Given the description of an element on the screen output the (x, y) to click on. 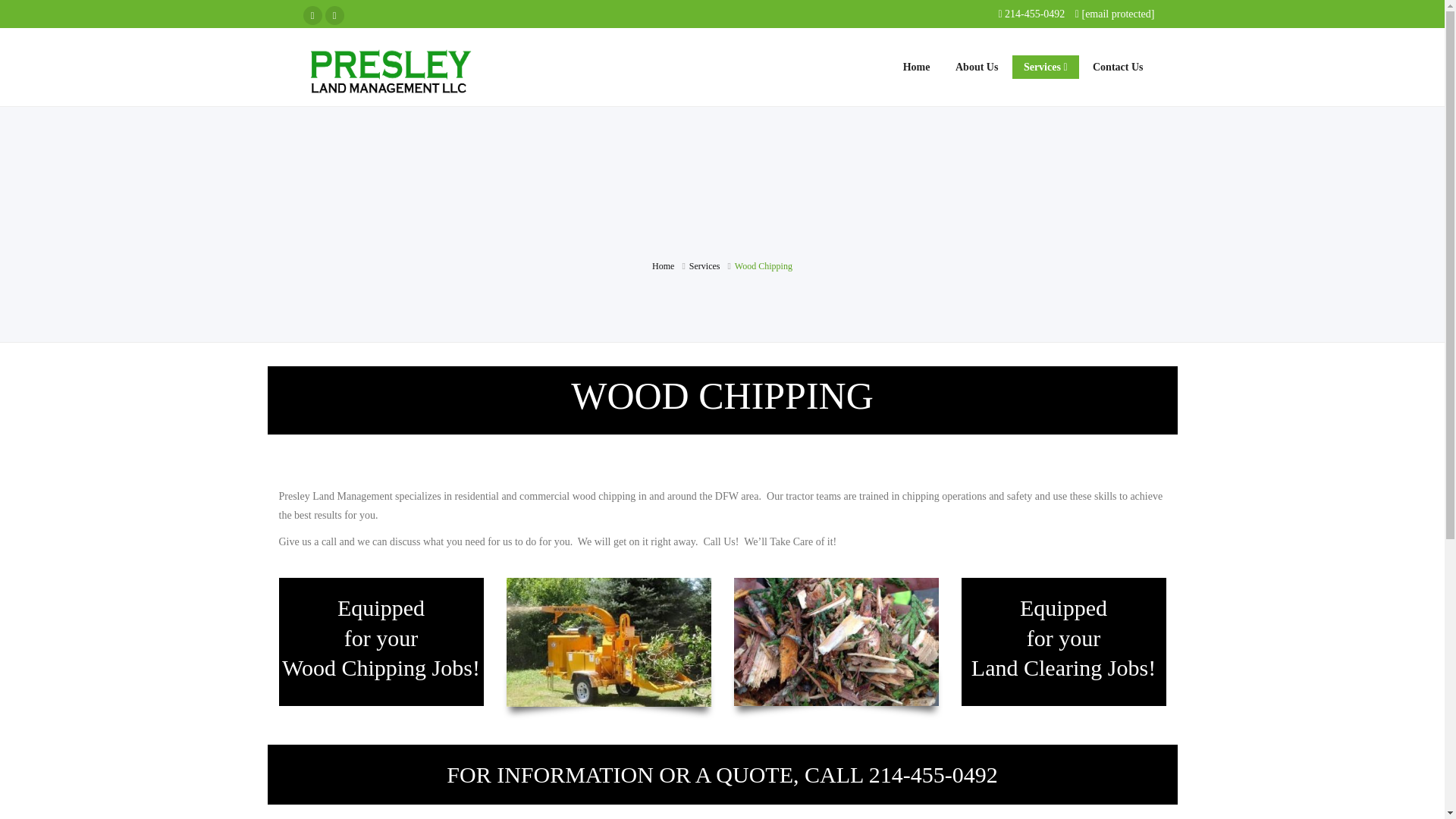
Home (663, 266)
Services (704, 266)
Contact Us (1117, 66)
Services (704, 266)
